Given the description of an element on the screen output the (x, y) to click on. 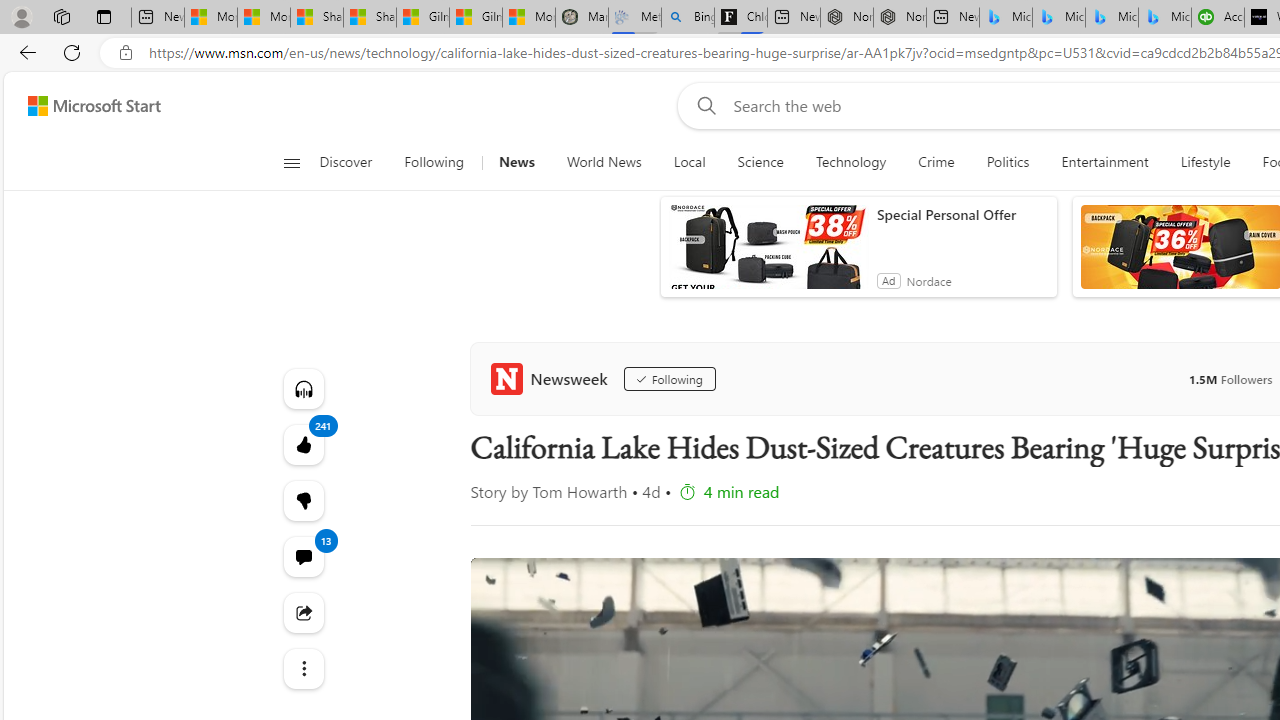
Technology (851, 162)
Microsoft Bing Travel - Shangri-La Hotel Bangkok (1165, 17)
Open navigation menu (291, 162)
World News (603, 162)
More like this241Fewer like thisView comments (302, 500)
Skip to content (86, 105)
See more (302, 668)
Ad (888, 280)
Lifestyle (1204, 162)
See more (302, 668)
Politics (1007, 162)
